Given the description of an element on the screen output the (x, y) to click on. 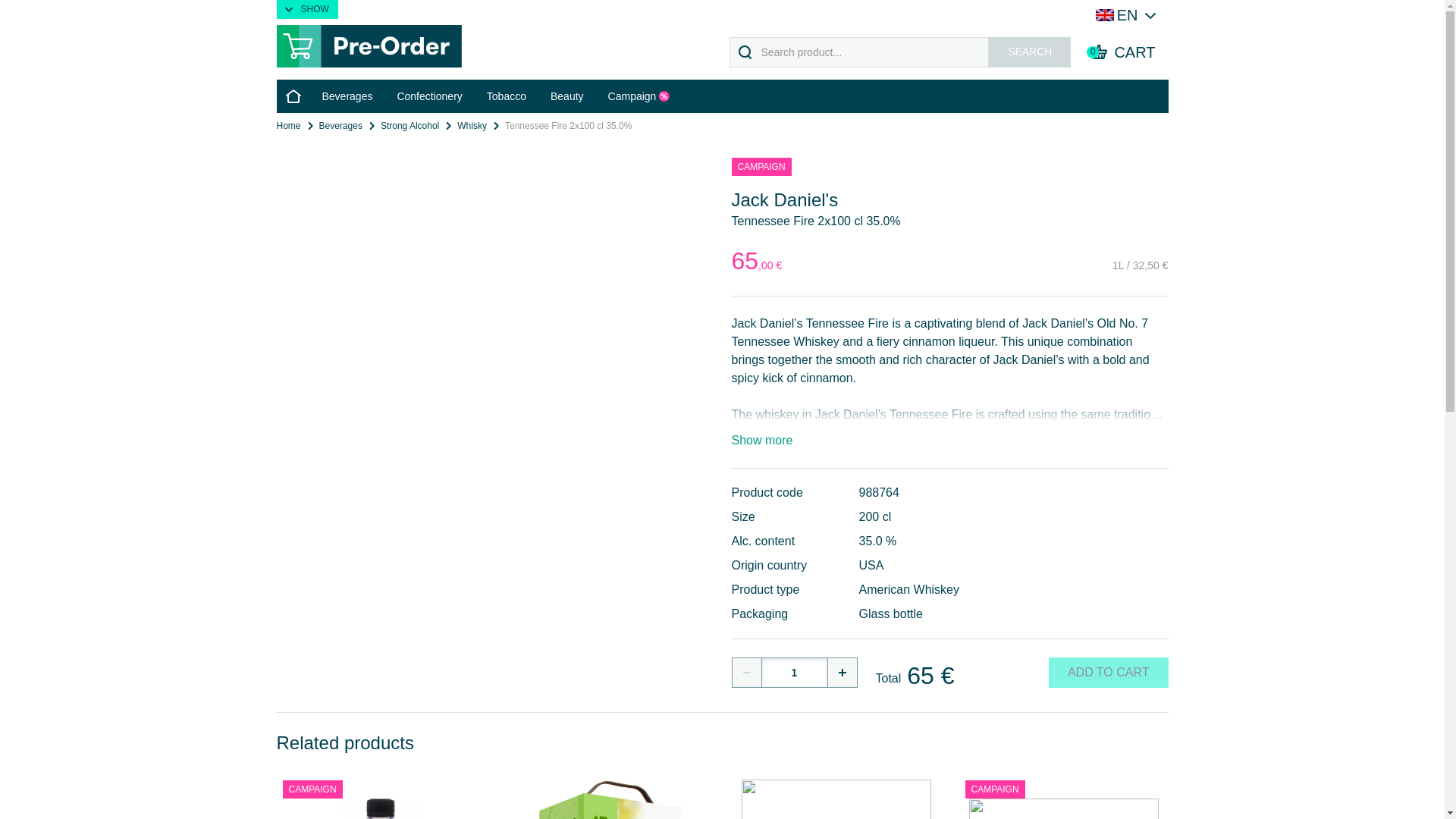
English (1115, 15)
Beverages (346, 96)
SHOW (306, 9)
SEARCH (1029, 51)
Tallink Pre-Order (1122, 51)
